Given the description of an element on the screen output the (x, y) to click on. 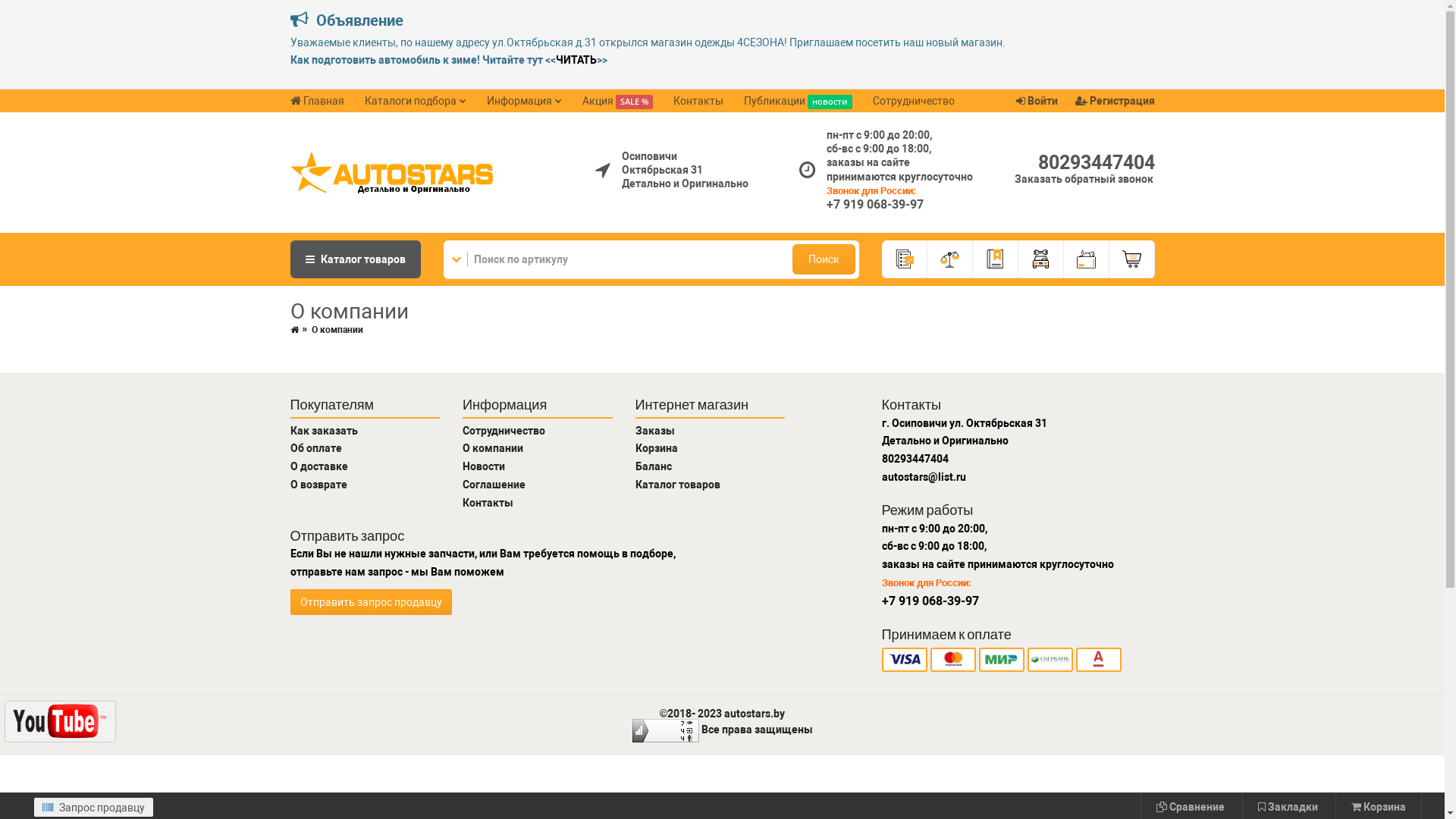
80293447404 Element type: text (1095, 162)
